Given the description of an element on the screen output the (x, y) to click on. 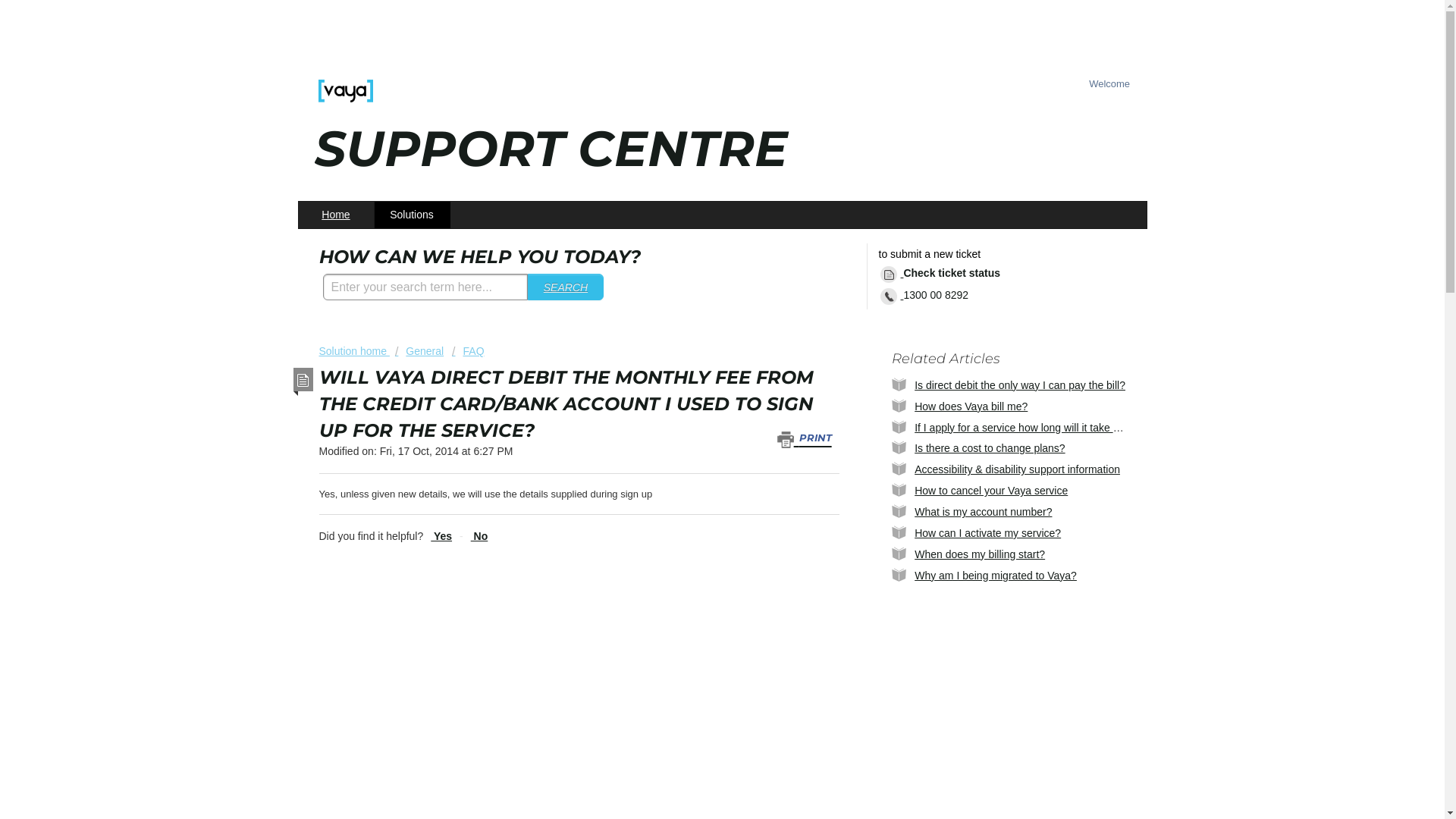
How does Vaya bill me? Element type: text (970, 406)
What is my account number? Element type: text (982, 511)
How to cancel your Vaya service Element type: text (990, 490)
Solutions Element type: text (412, 214)
Is there a cost to change plans? Element type: text (989, 448)
Why am I being migrated to Vaya? Element type: text (995, 575)
1300 00 8292 Element type: text (926, 296)
SEARCH Element type: text (565, 286)
FAQ Element type: text (467, 351)
How can I activate my service? Element type: text (987, 533)
Check ticket status Element type: text (942, 274)
Accessibility & disability support information Element type: text (1017, 469)
General Element type: text (419, 351)
Is direct debit the only way I can pay the bill? Element type: text (1019, 385)
When does my billing start? Element type: text (979, 554)
Home Element type: text (336, 214)
PRINT Element type: text (808, 437)
Solution home Element type: text (353, 351)
